Given the description of an element on the screen output the (x, y) to click on. 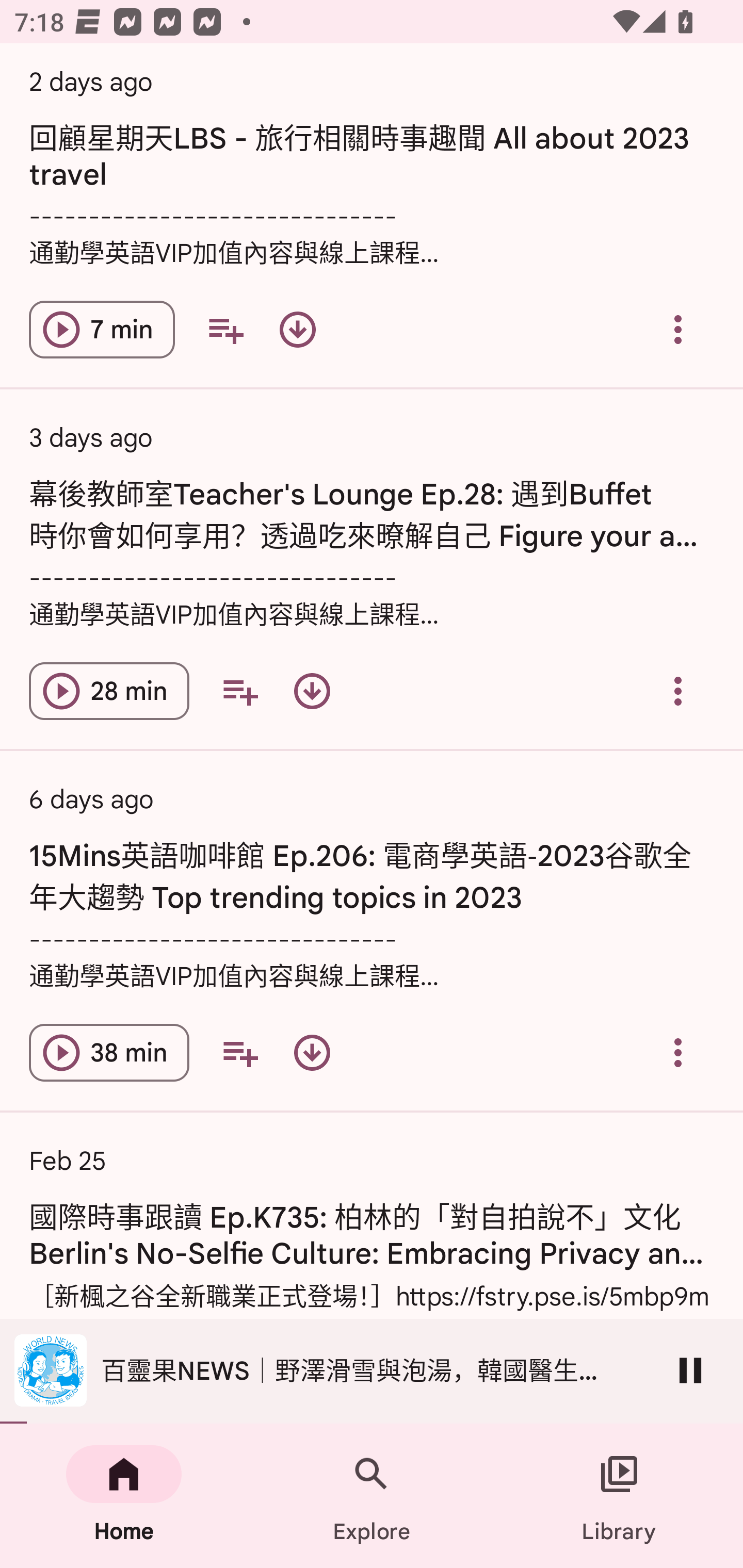
Add to your queue (225, 329)
Download episode (297, 329)
Overflow menu (677, 329)
Add to your queue (239, 690)
Download episode (312, 690)
Overflow menu (677, 690)
Add to your queue (239, 1052)
Download episode (312, 1052)
Overflow menu (677, 1052)
Pause (690, 1370)
Explore (371, 1495)
Library (619, 1495)
